Given the description of an element on the screen output the (x, y) to click on. 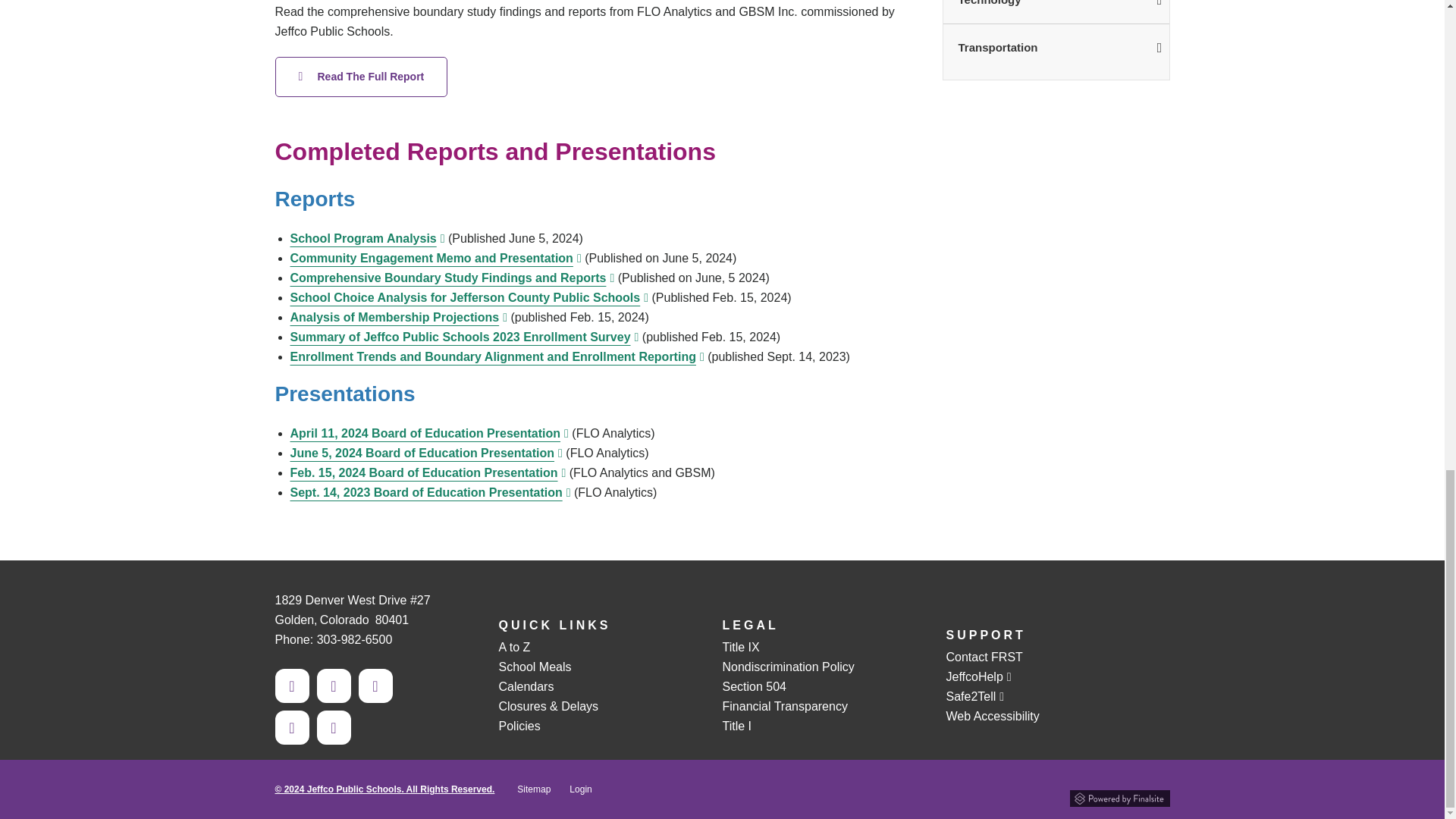
opens BoardDocs (360, 76)
BoardDocs opens in a new tab (496, 356)
BoardDocs opens in a new tab (397, 317)
opens Board Docs (428, 432)
BoardDocs opens in a new tab (427, 472)
BoardDocs opens in a new tab (464, 336)
Powered by Finalsite opens in a new window (1118, 795)
opens board docs (451, 277)
BoardDocs opens in a new tab (468, 297)
BoardDocs opens in a new tab (429, 492)
opens board docs (366, 237)
opens google docs (434, 257)
Opens Board Docs (425, 452)
